Given the description of an element on the screen output the (x, y) to click on. 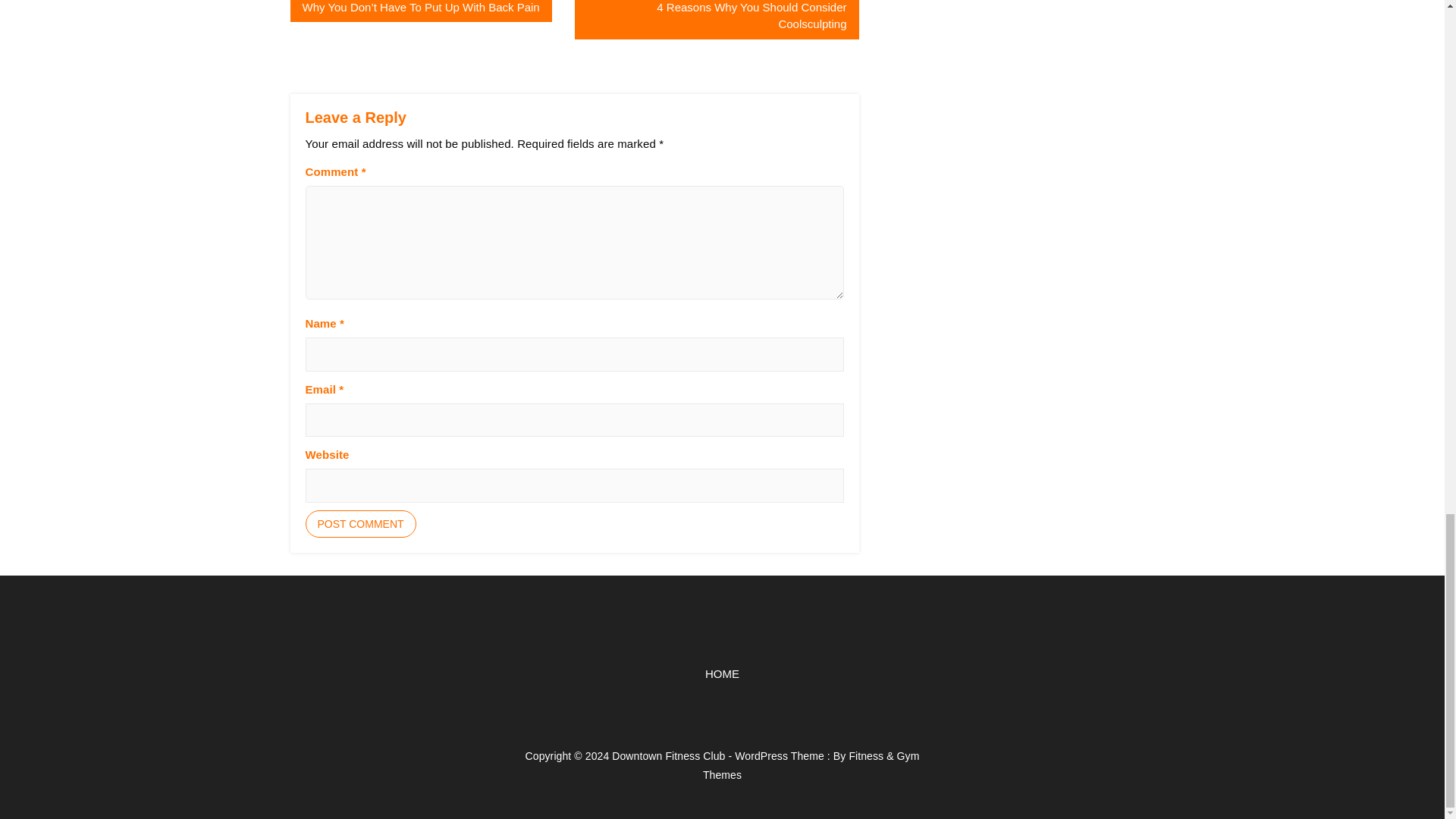
Post Comment (359, 523)
Post Comment (359, 523)
4 Reasons Why You Should Consider Coolsculpting (717, 19)
HOME (721, 673)
DOWNTOWN FITNESS CLUB (456, 654)
